Given the description of an element on the screen output the (x, y) to click on. 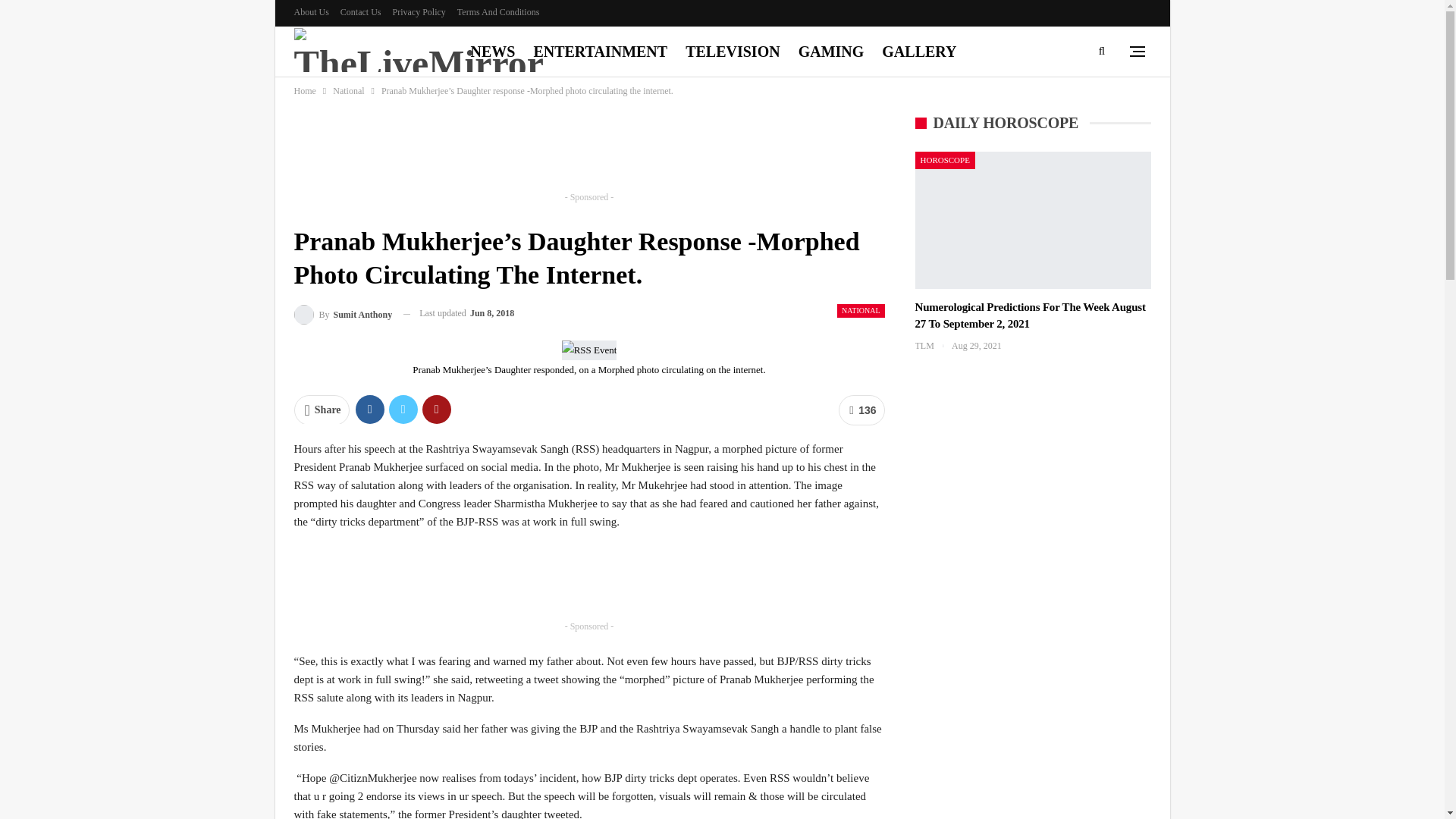
NATIONAL (861, 310)
GALLERY (918, 51)
By Sumit Anthony (343, 313)
Privacy Policy (419, 11)
NEWS (493, 51)
Terms And Conditions (498, 11)
Home (304, 90)
Contact Us (360, 11)
TELEVISION (732, 51)
